Given the description of an element on the screen output the (x, y) to click on. 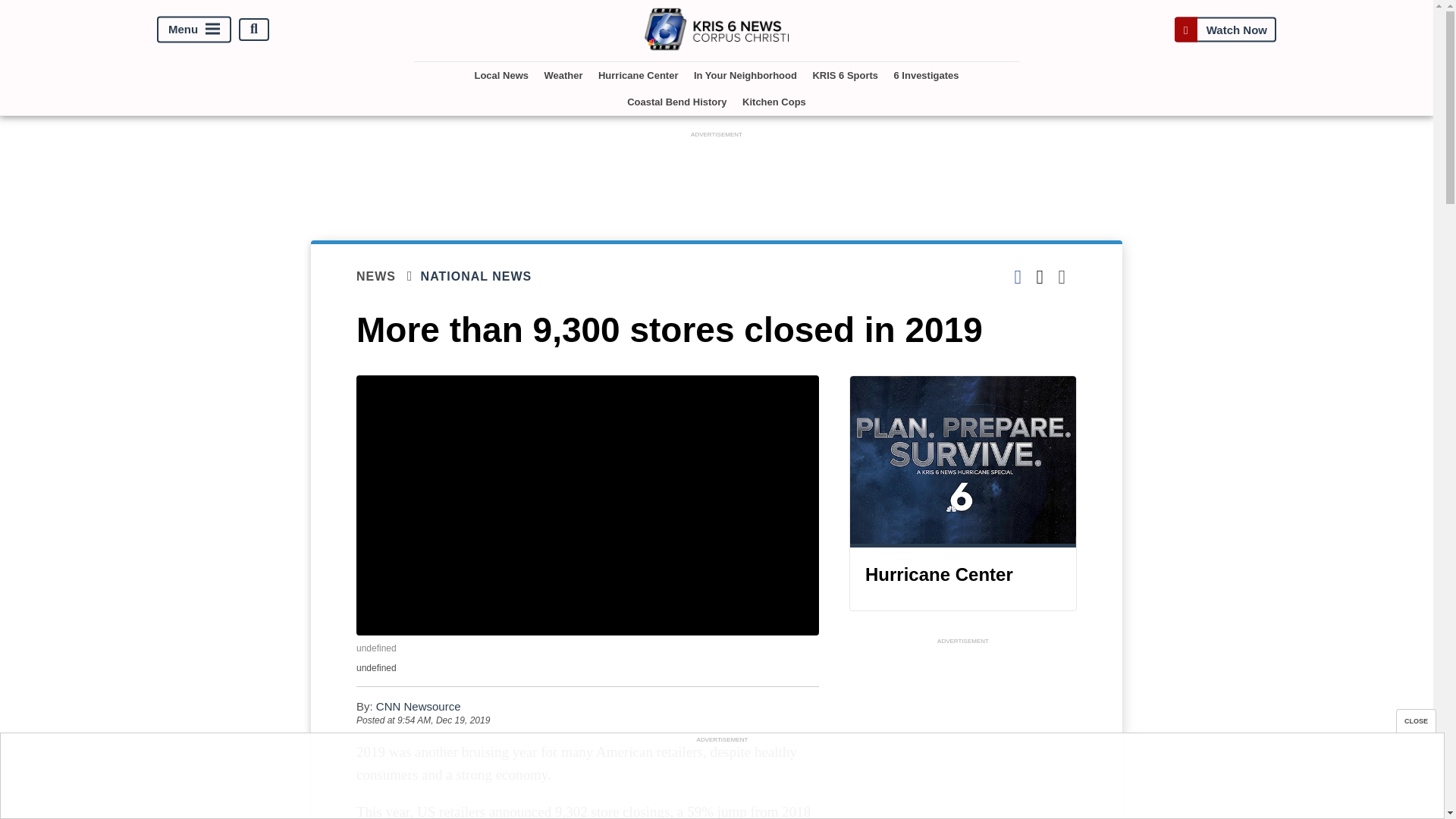
Watch Now (1224, 29)
Menu (194, 28)
3rd party ad content (716, 175)
3rd party ad content (721, 780)
3rd party ad content (962, 733)
